Given the description of an element on the screen output the (x, y) to click on. 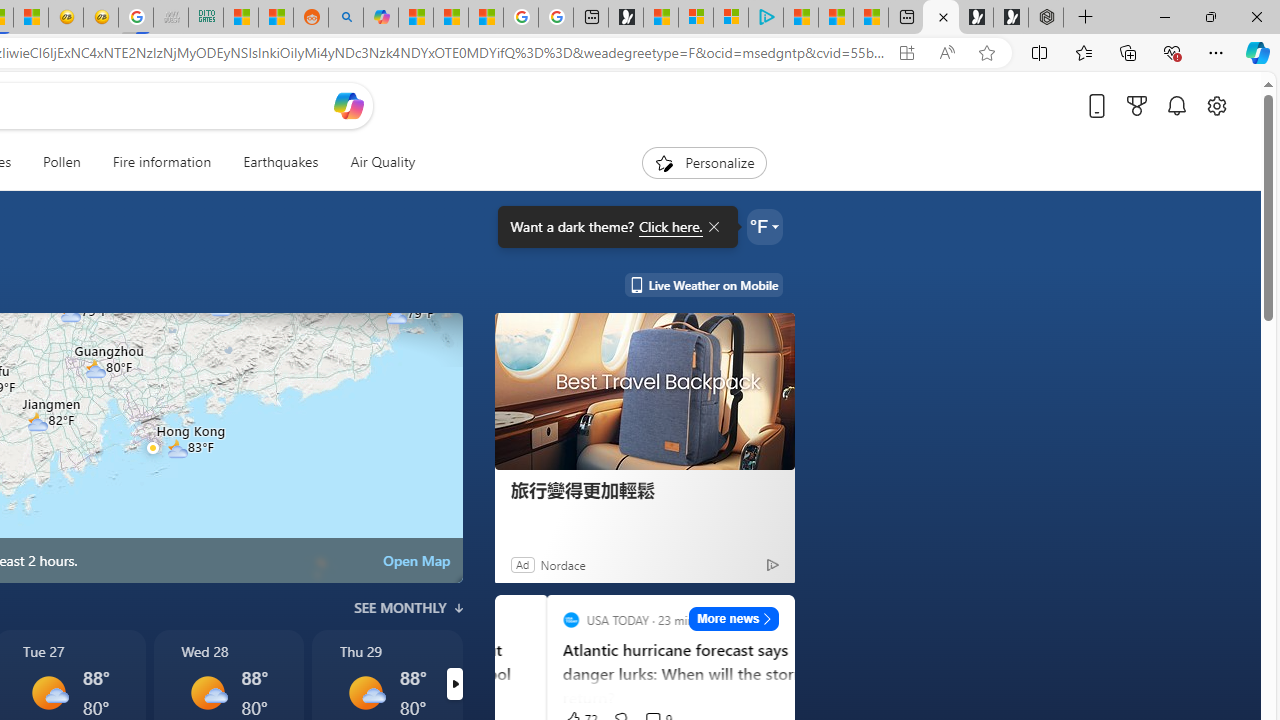
Microsoft Copilot in Bing (380, 17)
